Given the description of an element on the screen output the (x, y) to click on. 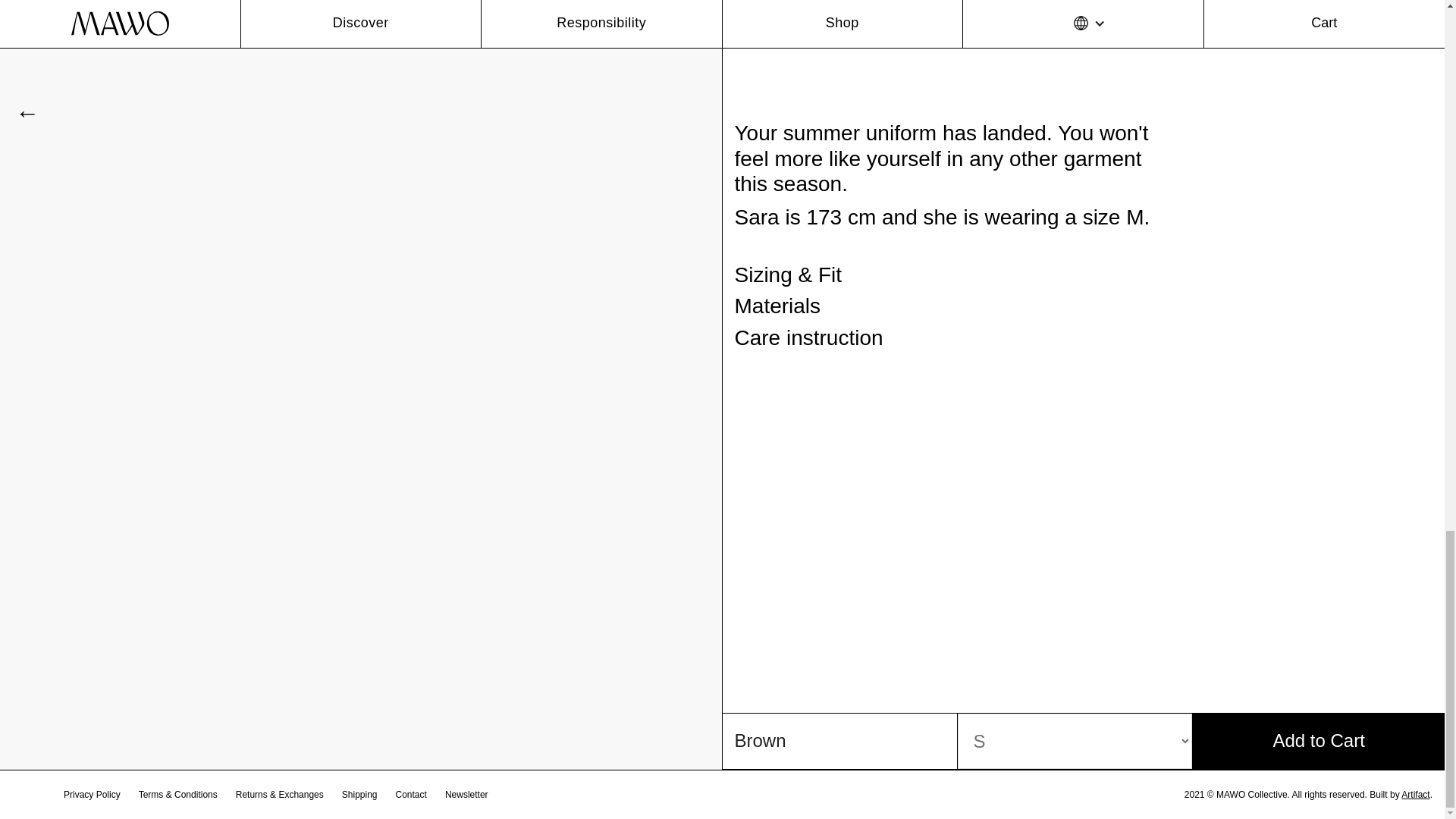
Artifact (1414, 794)
Shipping (359, 794)
Newsletter (467, 794)
Contact (411, 794)
Privacy Policy (92, 794)
